Given the description of an element on the screen output the (x, y) to click on. 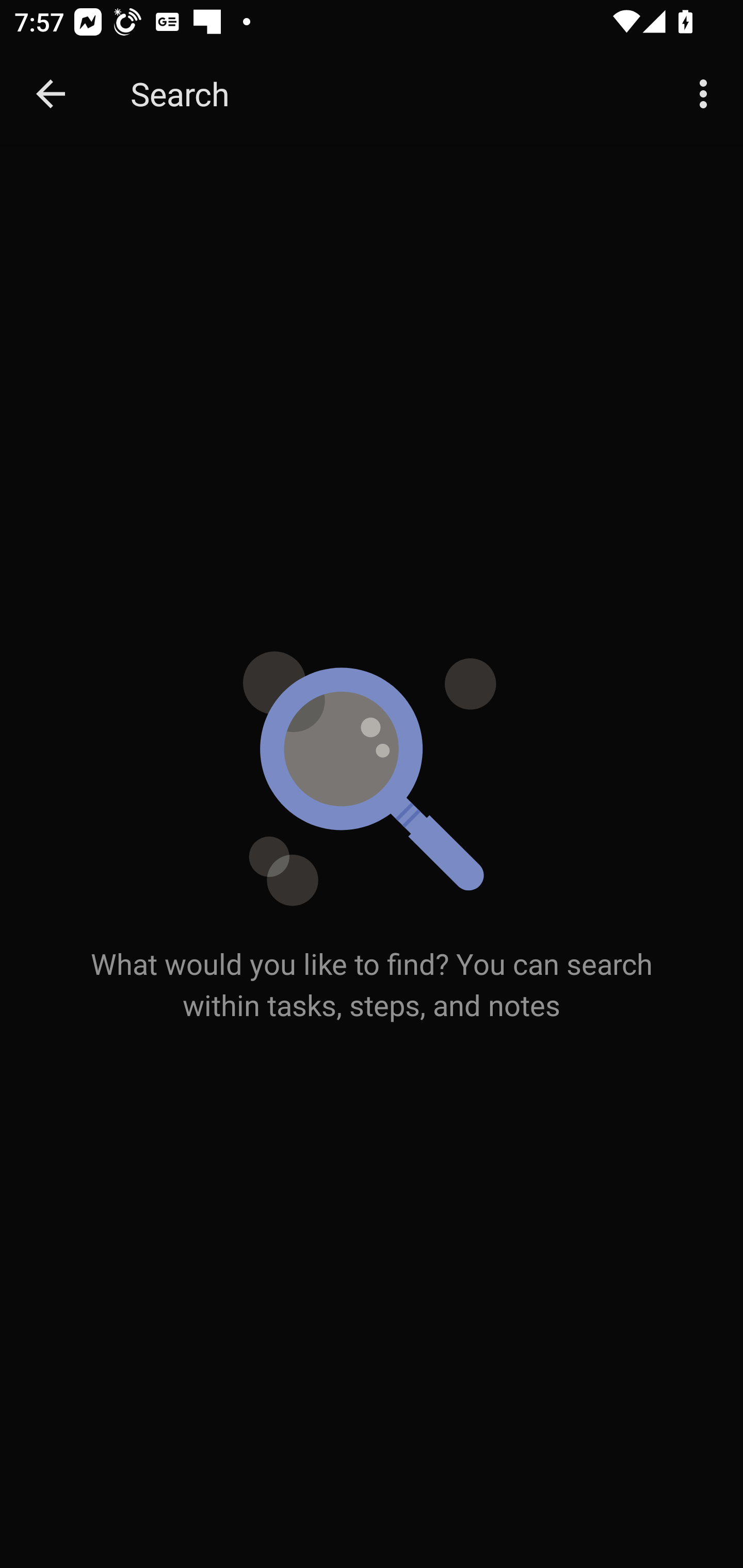
Navigate up (50, 93)
More options (706, 93)
Search (393, 94)
